Given the description of an element on the screen output the (x, y) to click on. 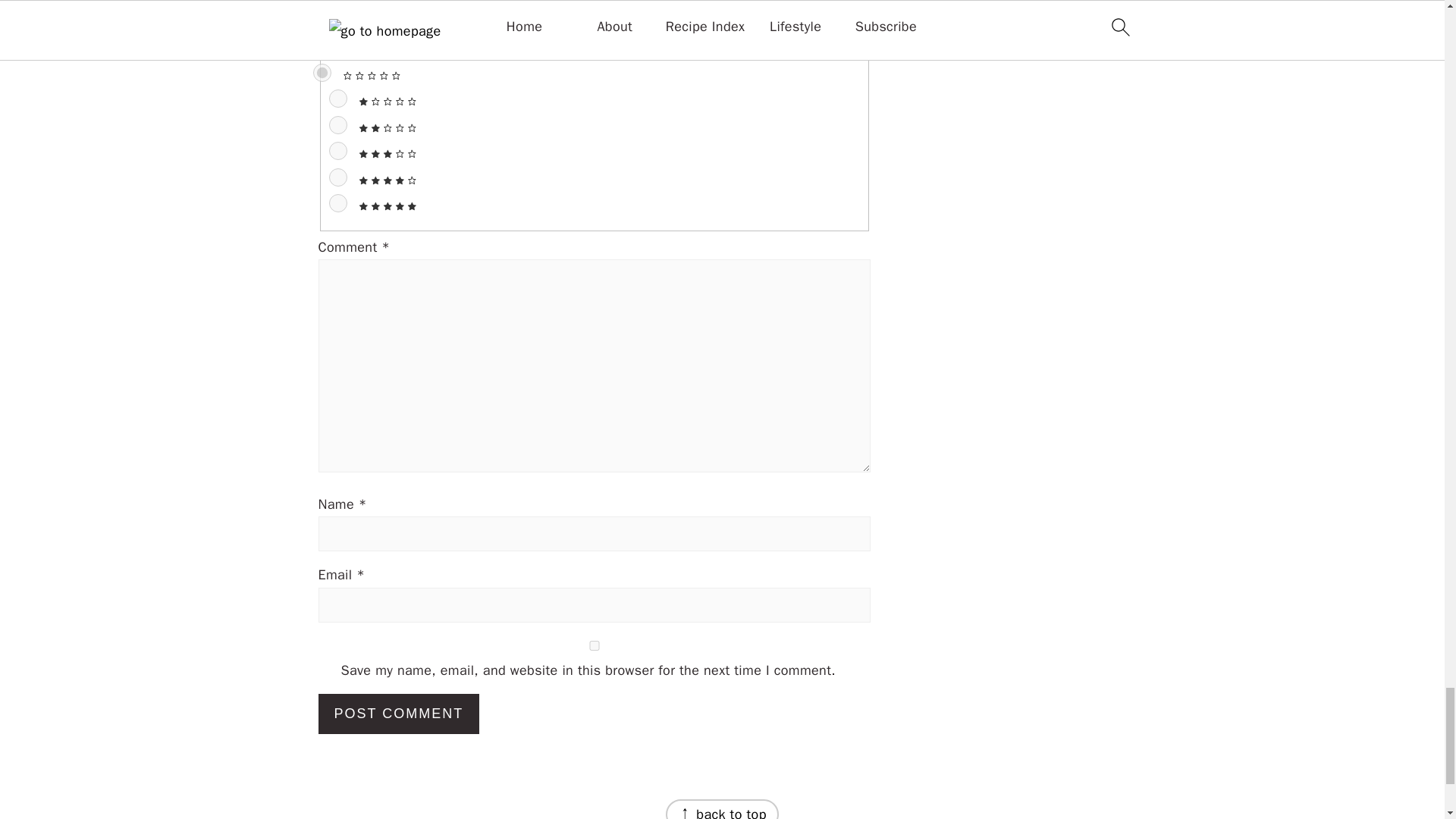
Post Comment (399, 713)
2 (338, 125)
0 (322, 72)
5 (338, 203)
3 (338, 150)
yes (594, 645)
4 (338, 177)
1 (338, 98)
